Given the description of an element on the screen output the (x, y) to click on. 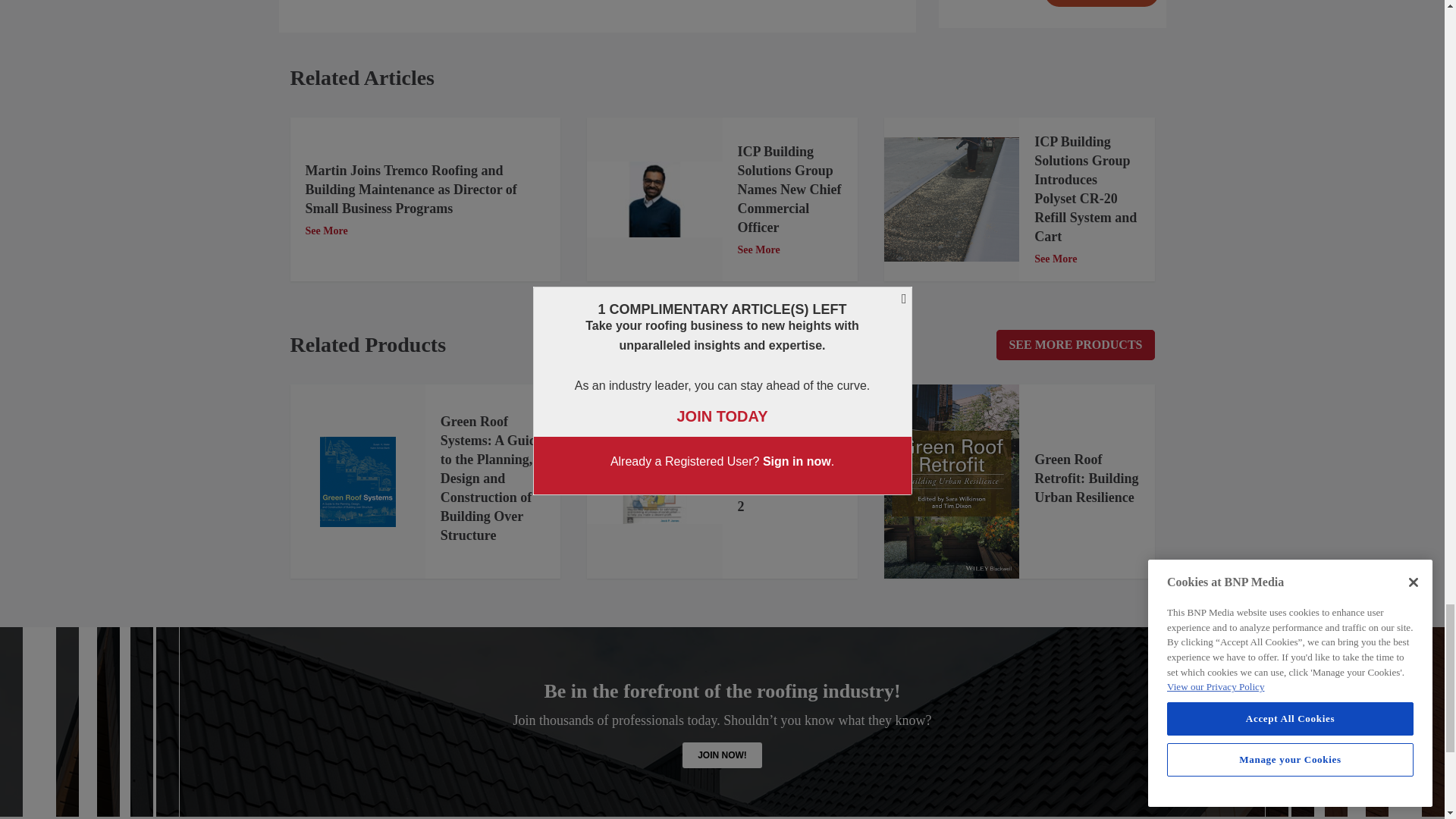
Sami headshot (654, 199)
ICP Building PolySet (951, 199)
cc2.png (654, 480)
Interaction questions (1052, 13)
